Given the description of an element on the screen output the (x, y) to click on. 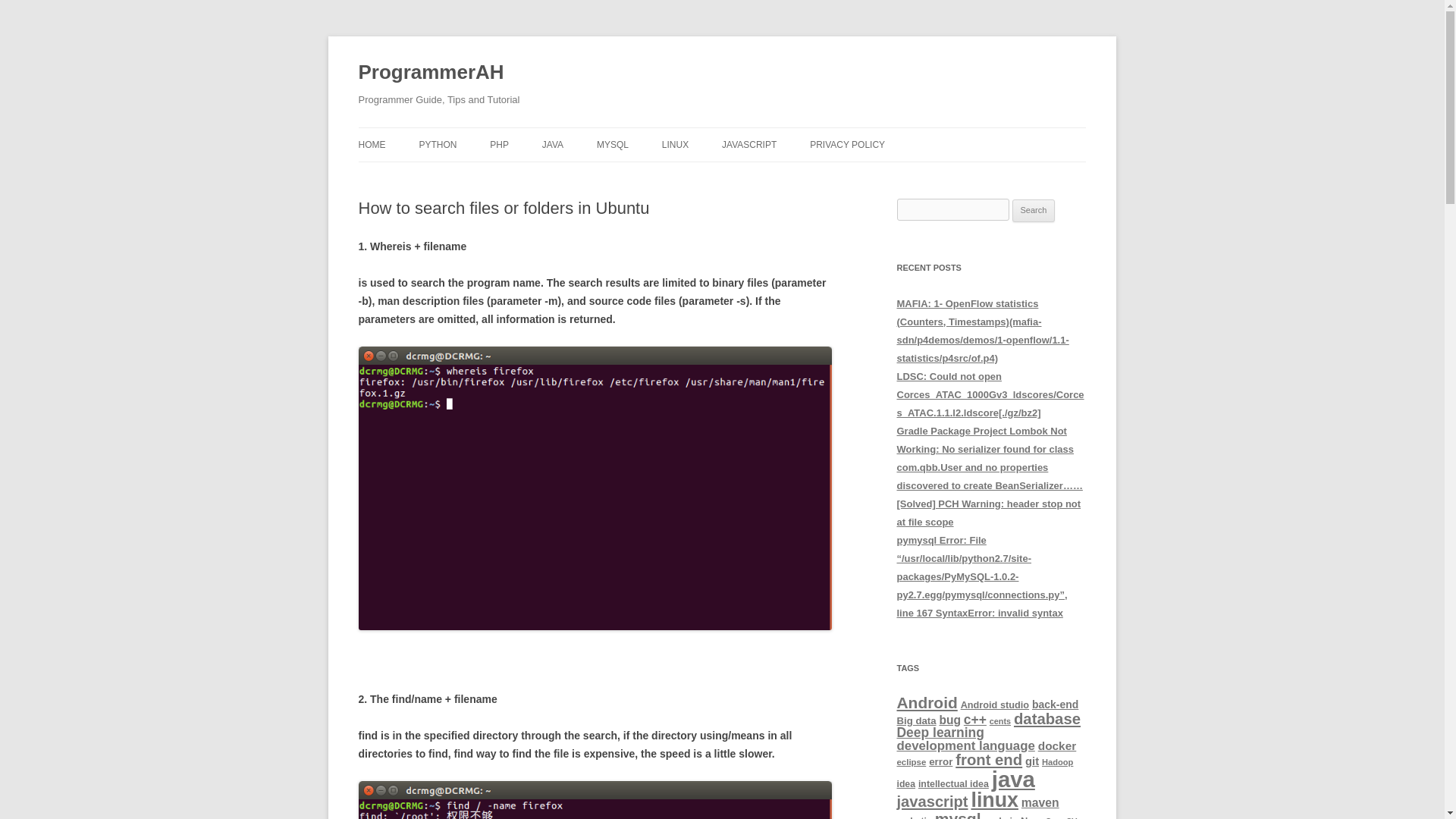
Search (1033, 210)
MYSQL (612, 144)
JAVASCRIPT (749, 144)
Search (1033, 210)
ProgrammerAH (430, 72)
PRIVACY POLICY (847, 144)
ProgrammerAH (430, 72)
PYTHON (438, 144)
